Given the description of an element on the screen output the (x, y) to click on. 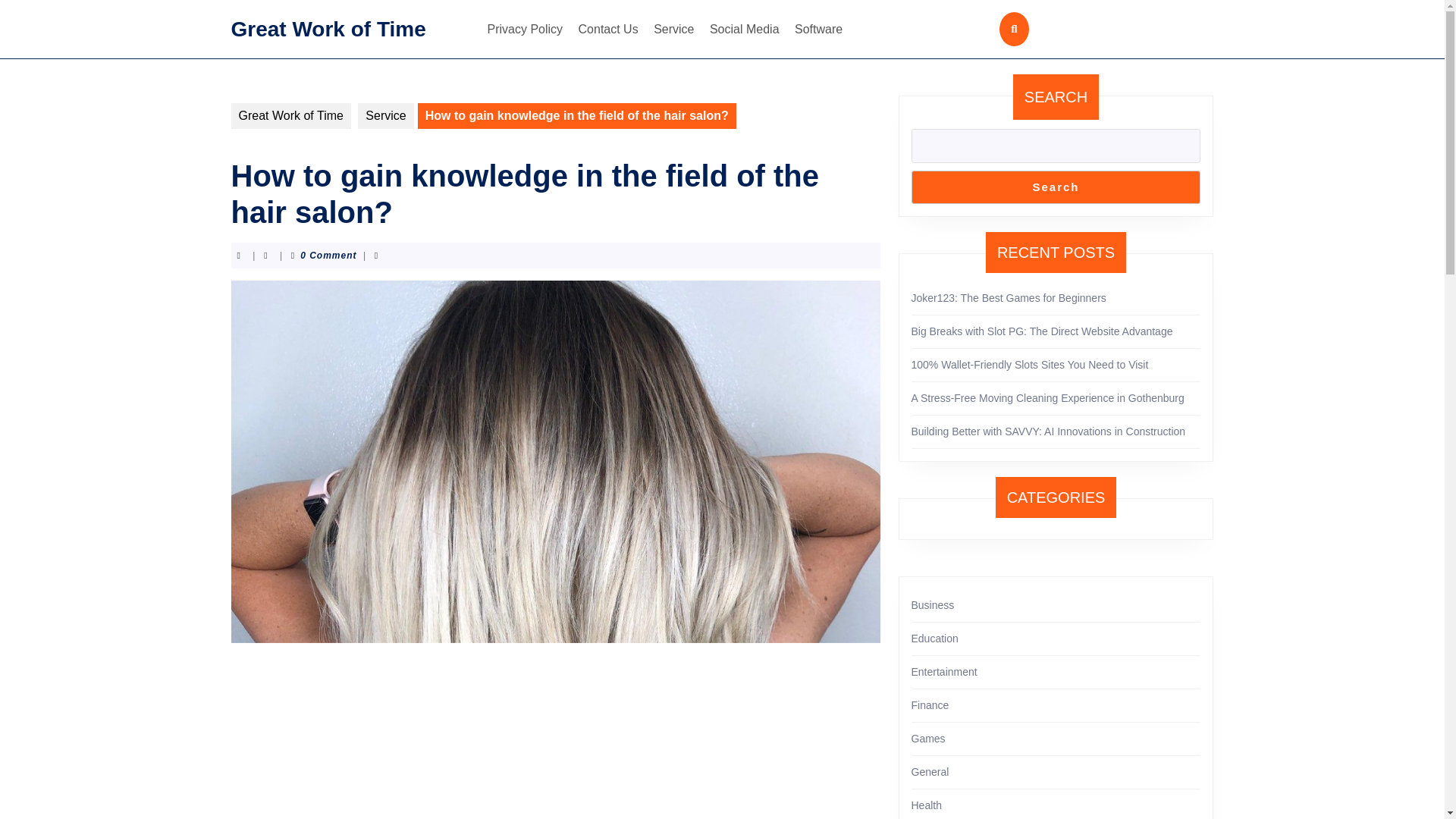
Privacy Policy (524, 28)
Service (385, 115)
Service (673, 28)
Joker123: The Best Games for Beginners (1008, 297)
Education (934, 638)
Great Work of Time (290, 115)
Big Breaks with Slot PG: The Direct Website Advantage (1042, 331)
Search (1056, 186)
Business (933, 604)
Social Media (744, 28)
